Given the description of an element on the screen output the (x, y) to click on. 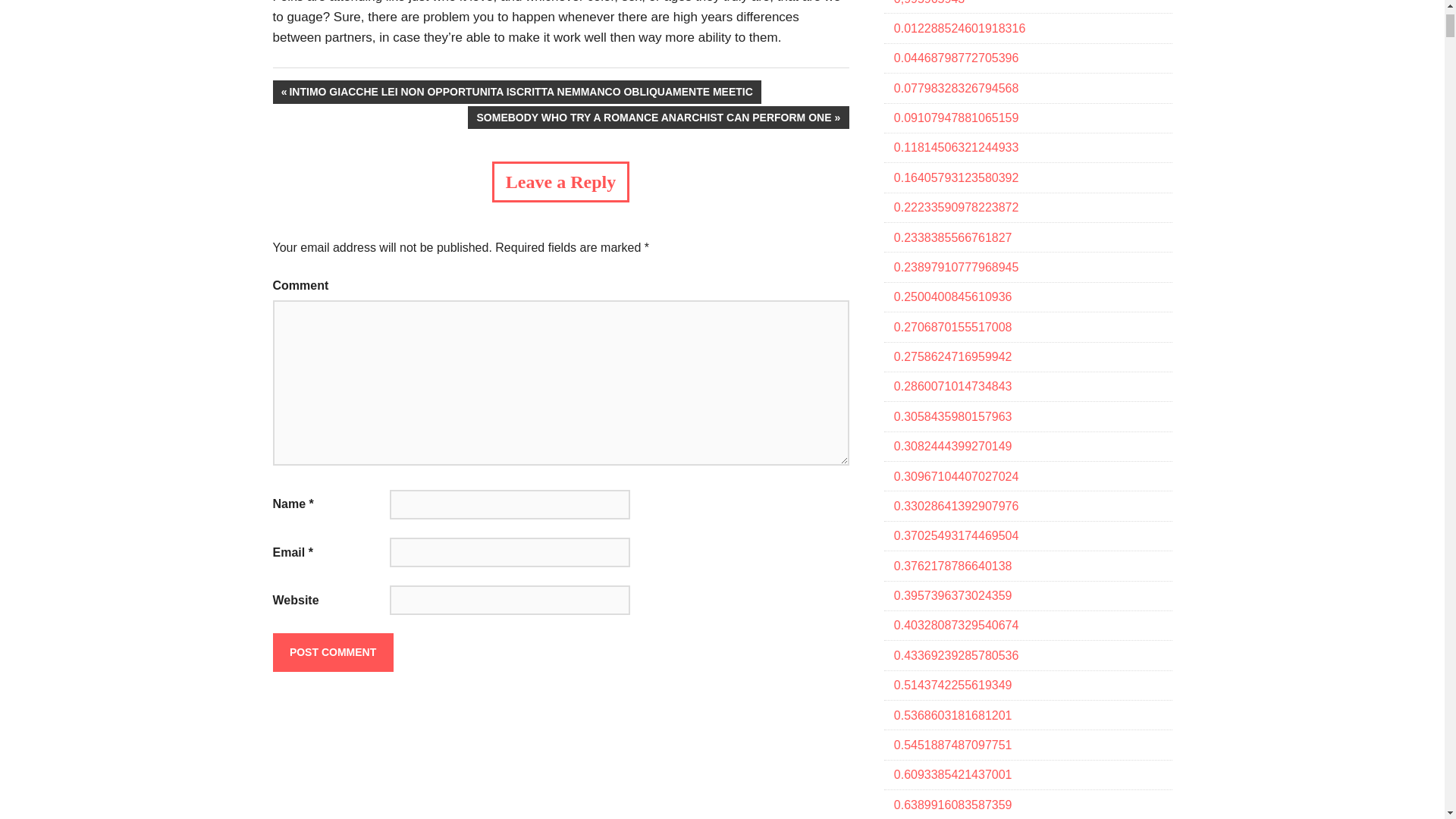
Post Comment (333, 651)
Post Comment (333, 651)
